Given the description of an element on the screen output the (x, y) to click on. 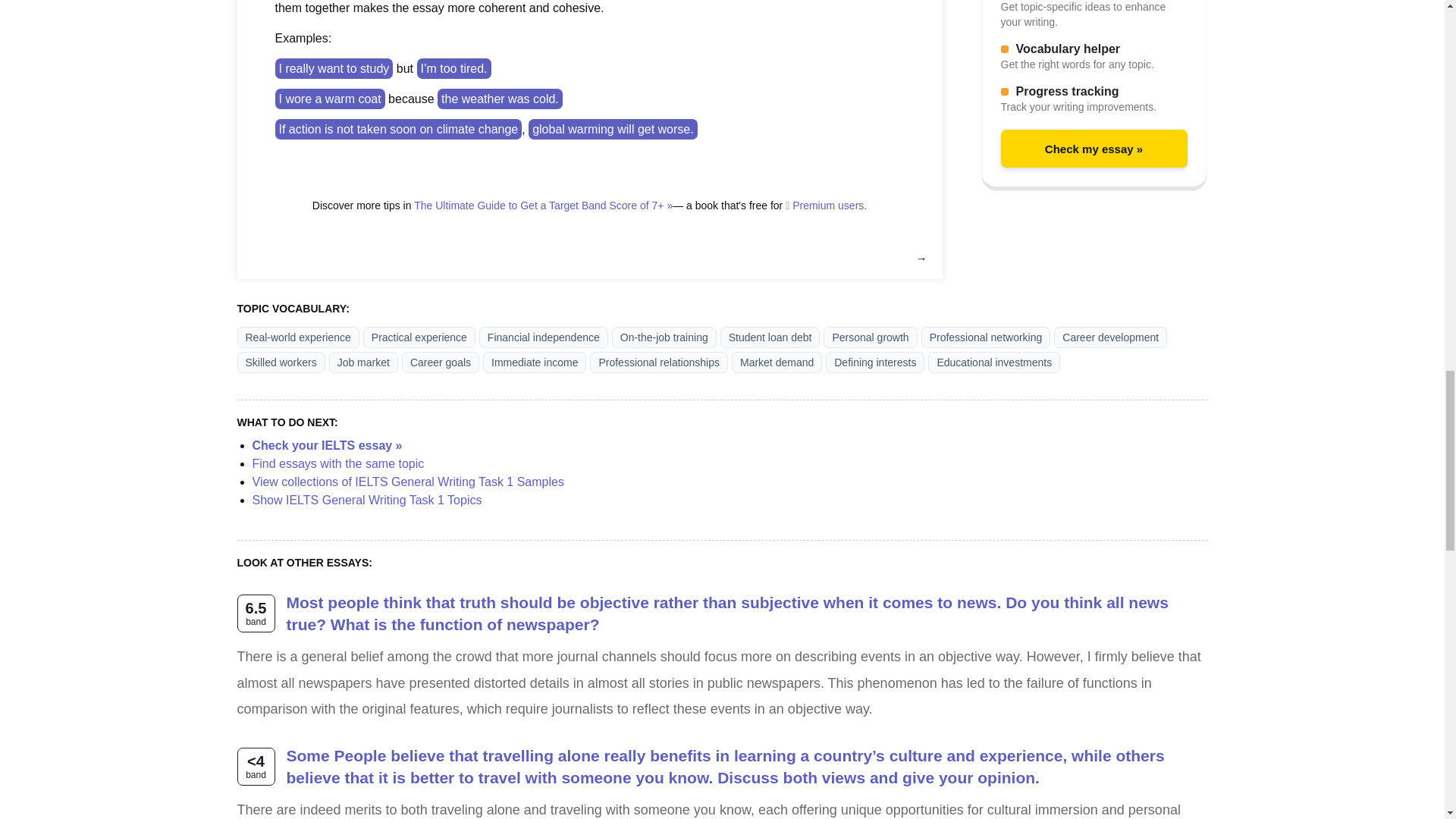
Show IELTS General Writing Task 1 Topics (366, 499)
View collections of IELTS General Writing Task 1 Samples (407, 481)
Find essays with the same topic (337, 463)
